Given the description of an element on the screen output the (x, y) to click on. 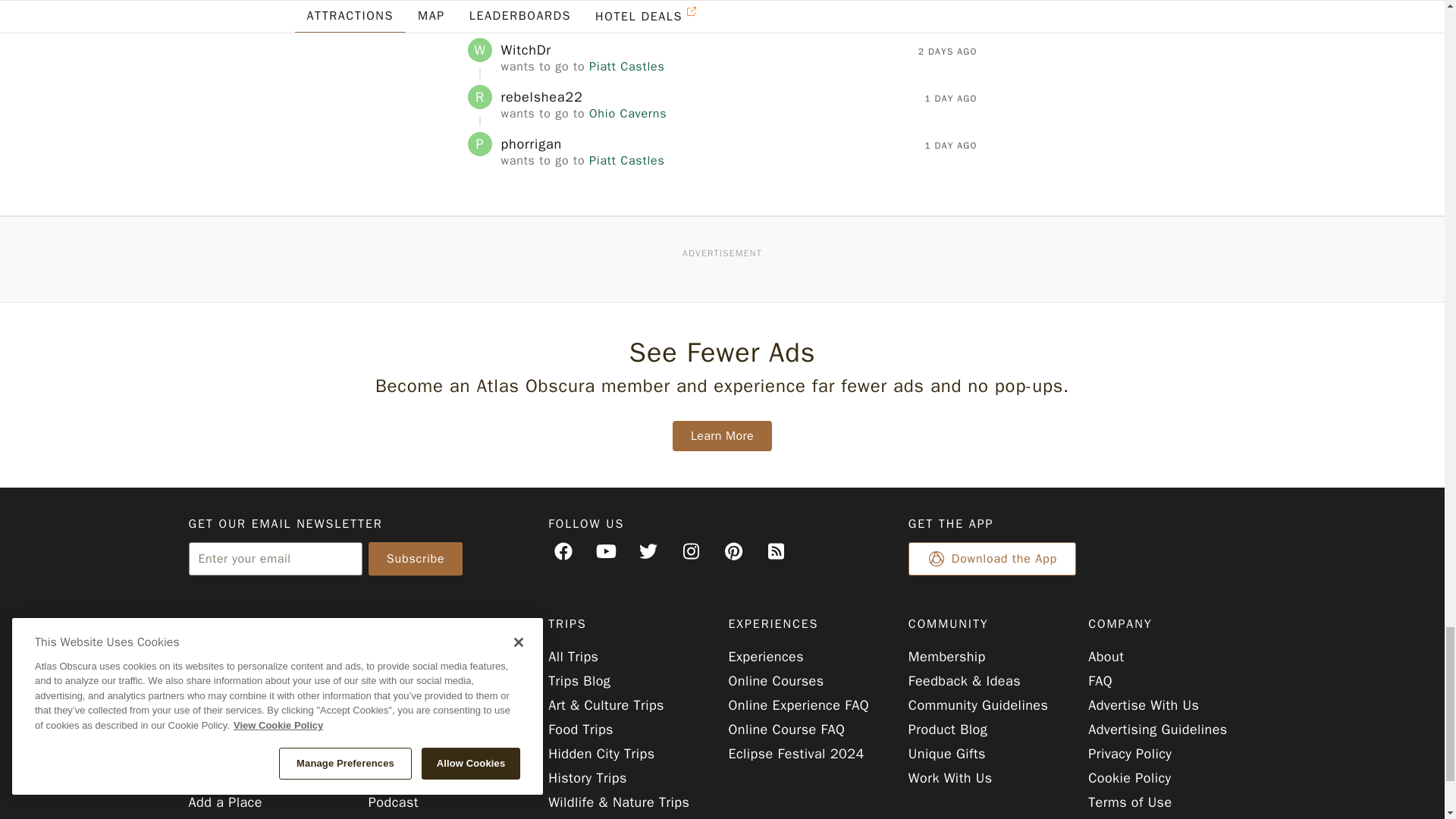
Subscribe (415, 558)
